Given the description of an element on the screen output the (x, y) to click on. 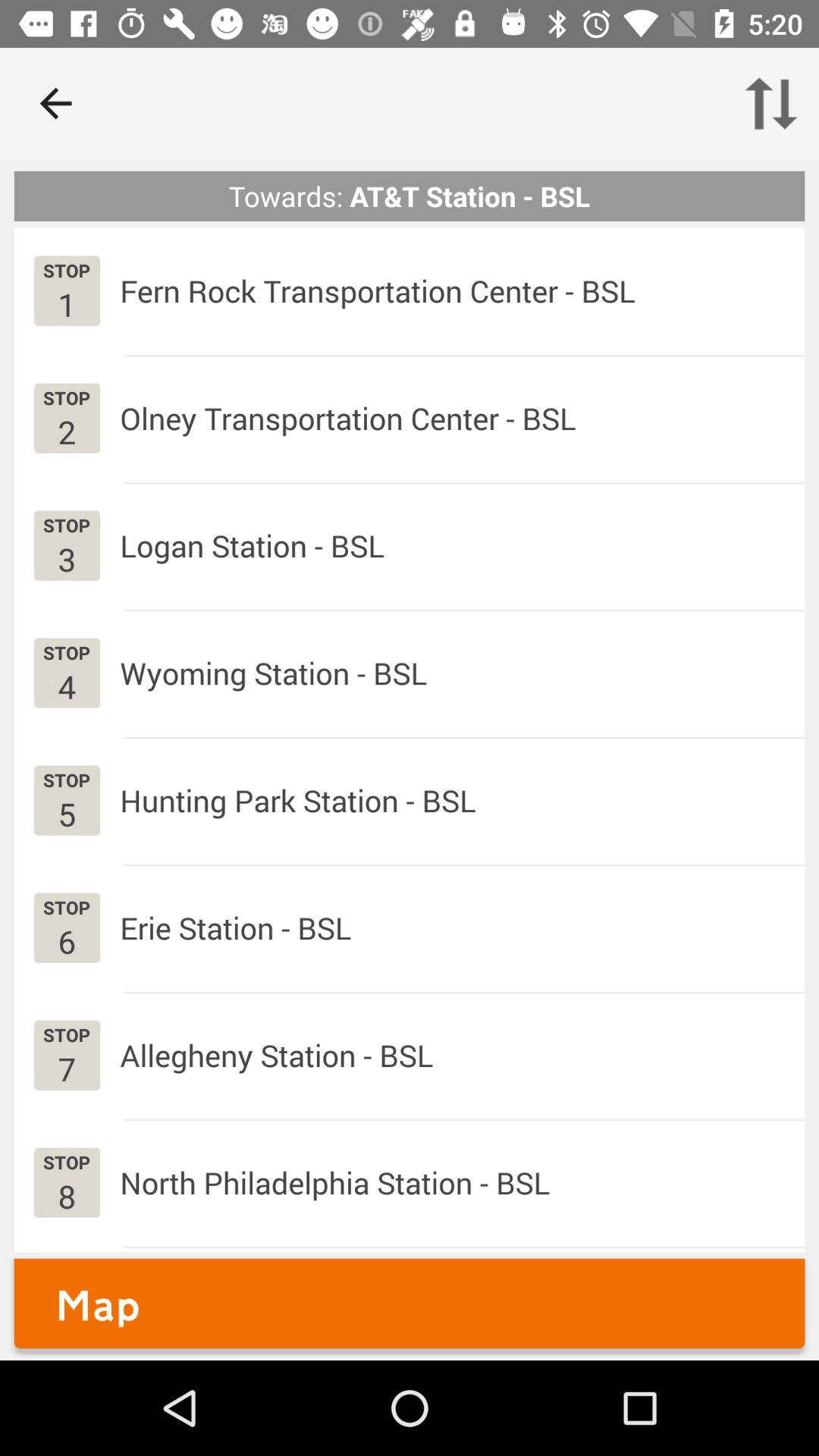
swipe until the 3 app (66, 558)
